Given the description of an element on the screen output the (x, y) to click on. 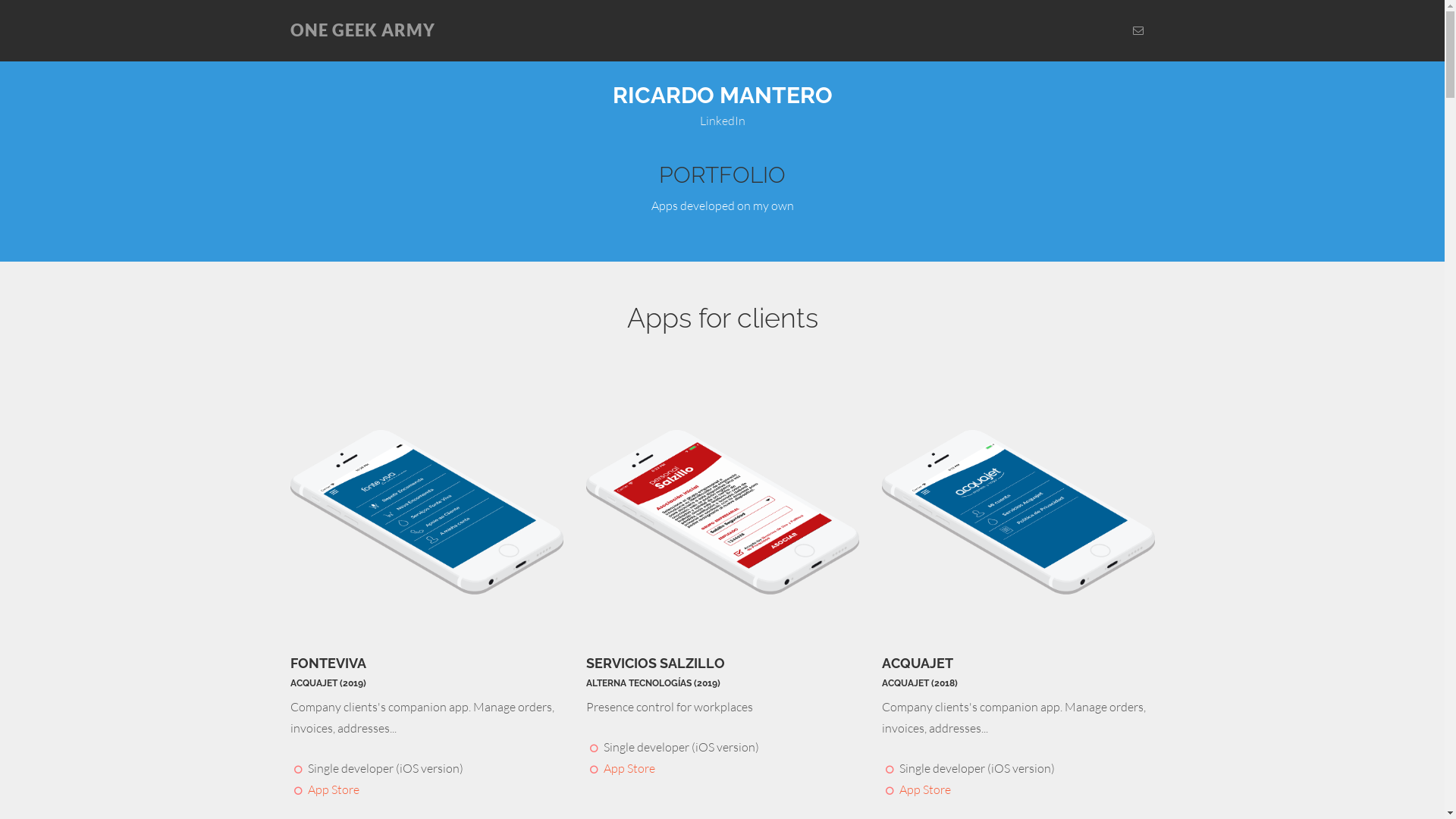
App Store Element type: text (629, 767)
App Store Element type: text (924, 789)
App Store Element type: text (333, 789)
ONE GEEK ARMY Element type: text (362, 30)
LinkedIn Element type: text (721, 120)
